Given the description of an element on the screen output the (x, y) to click on. 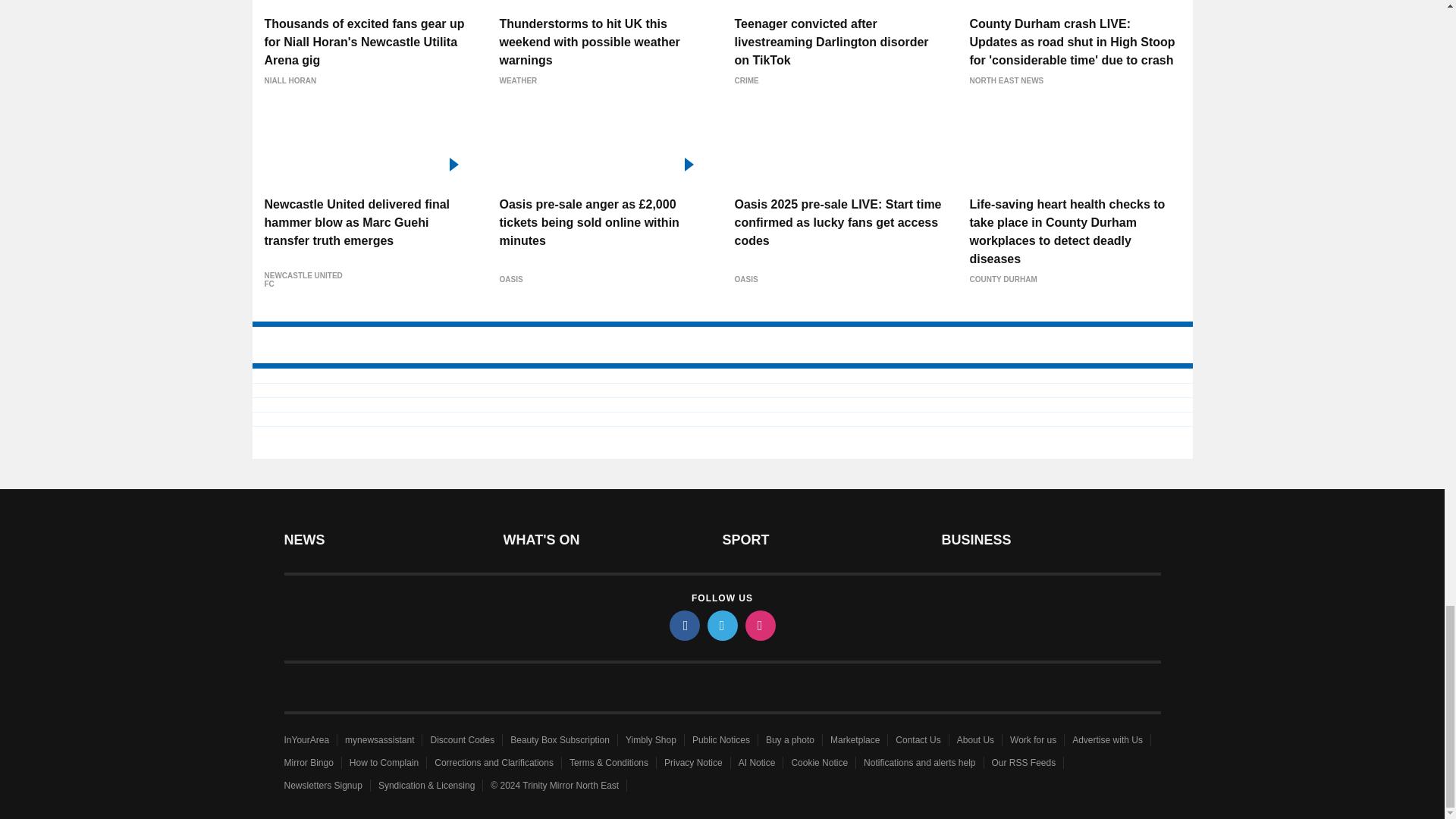
twitter (721, 625)
facebook (683, 625)
instagram (759, 625)
